Given the description of an element on the screen output the (x, y) to click on. 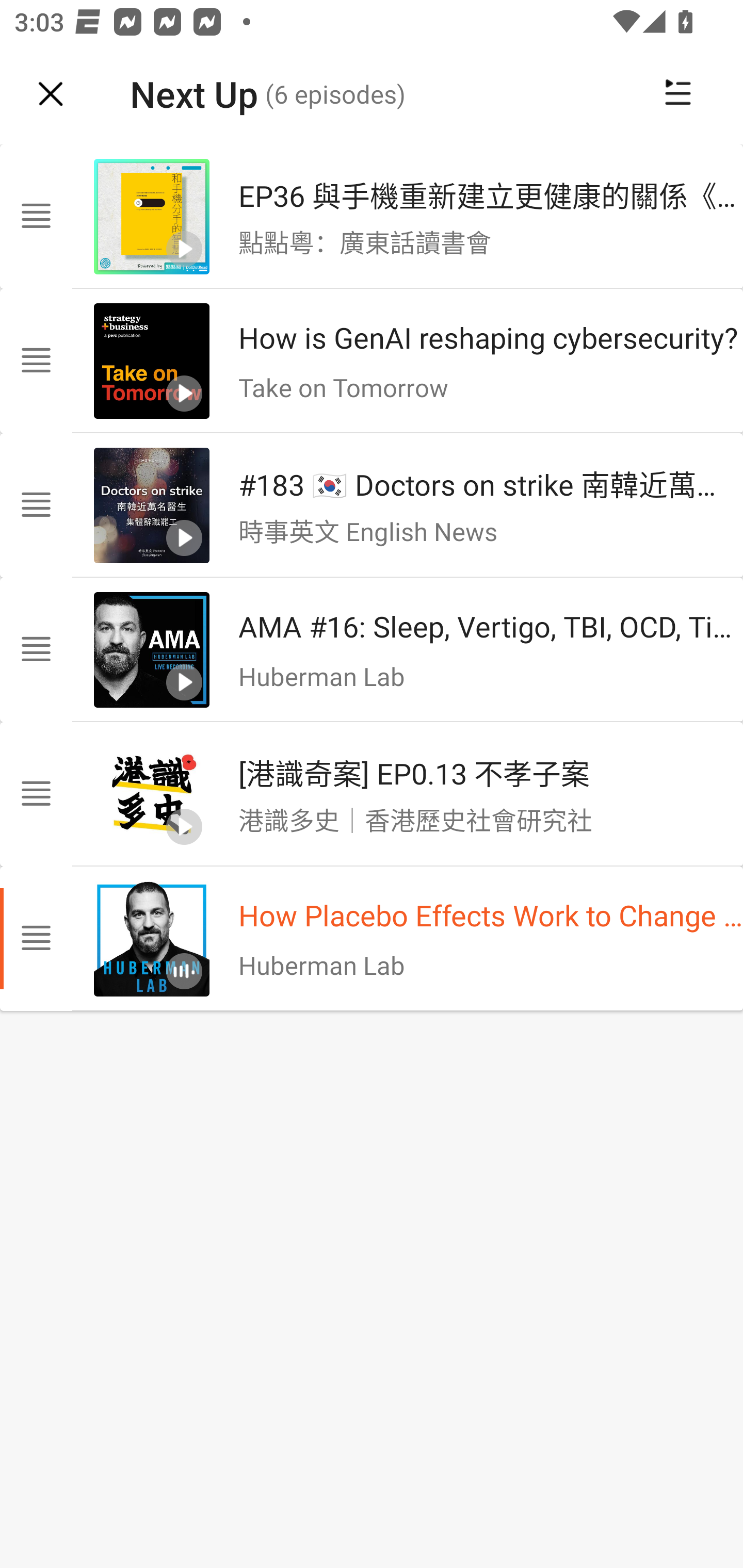
Navigate up (50, 93)
